Given the description of an element on the screen output the (x, y) to click on. 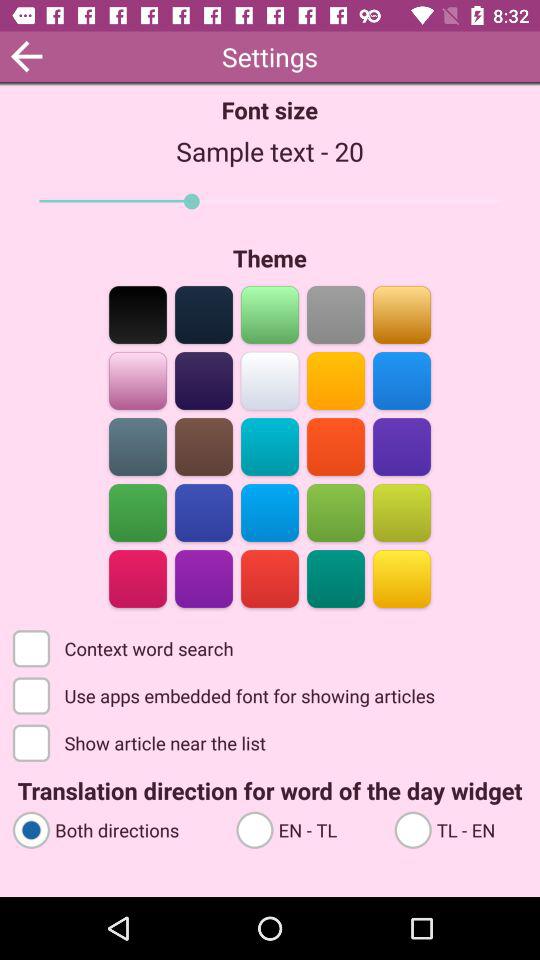
blue (137, 445)
